Given the description of an element on the screen output the (x, y) to click on. 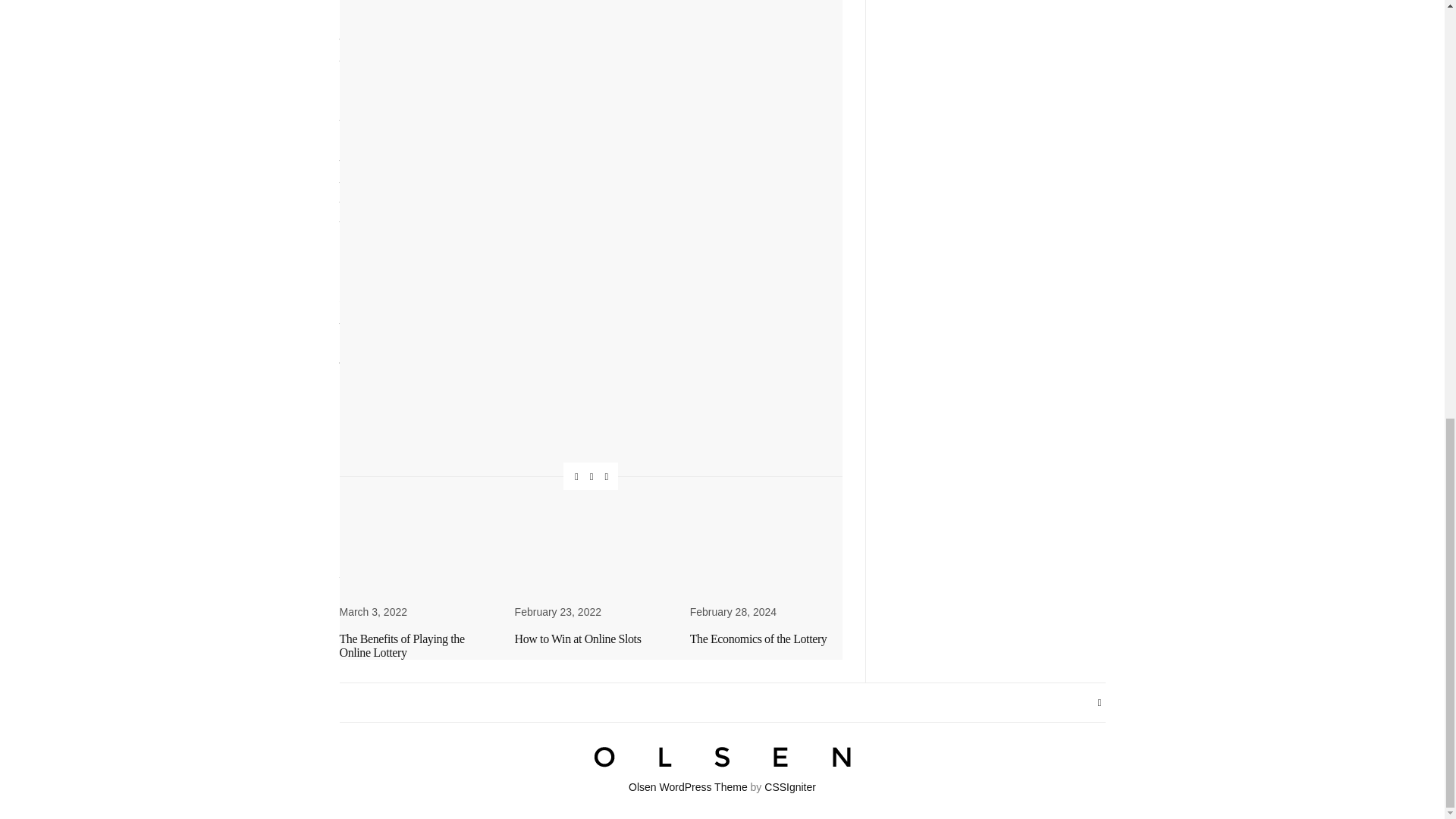
The Benefits of Playing the Online Lottery (401, 645)
Previous Post (465, 531)
The Economics of the Lottery (758, 638)
Blogging theme for WordPress (688, 787)
Olsen WordPress Theme (688, 787)
Next Post (716, 531)
CSSIgniter (789, 787)
How to Win at Online Slots (578, 638)
